Given the description of an element on the screen output the (x, y) to click on. 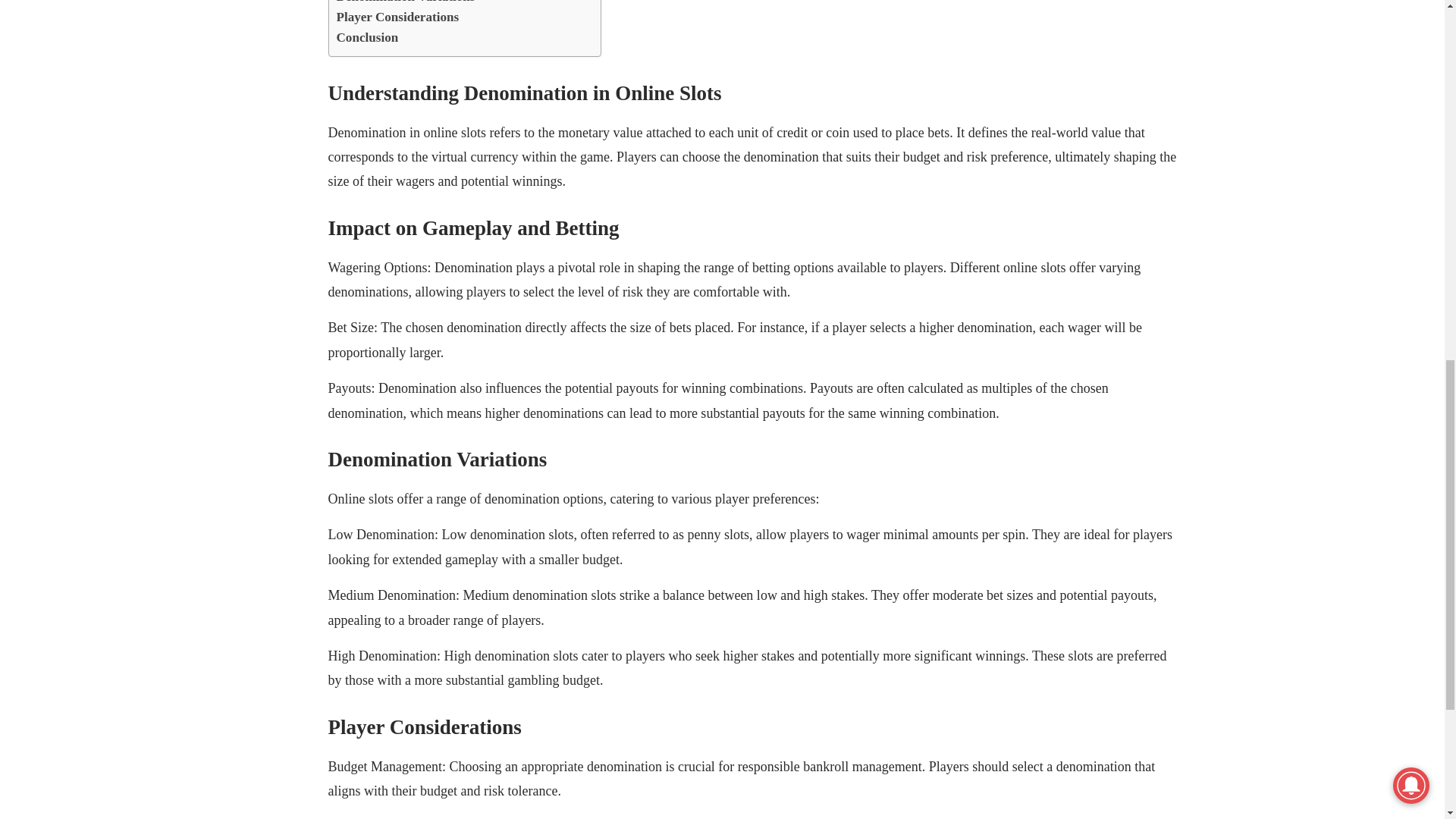
Denomination Variations (406, 3)
Conclusion (367, 37)
Player Considerations (398, 16)
